Given the description of an element on the screen output the (x, y) to click on. 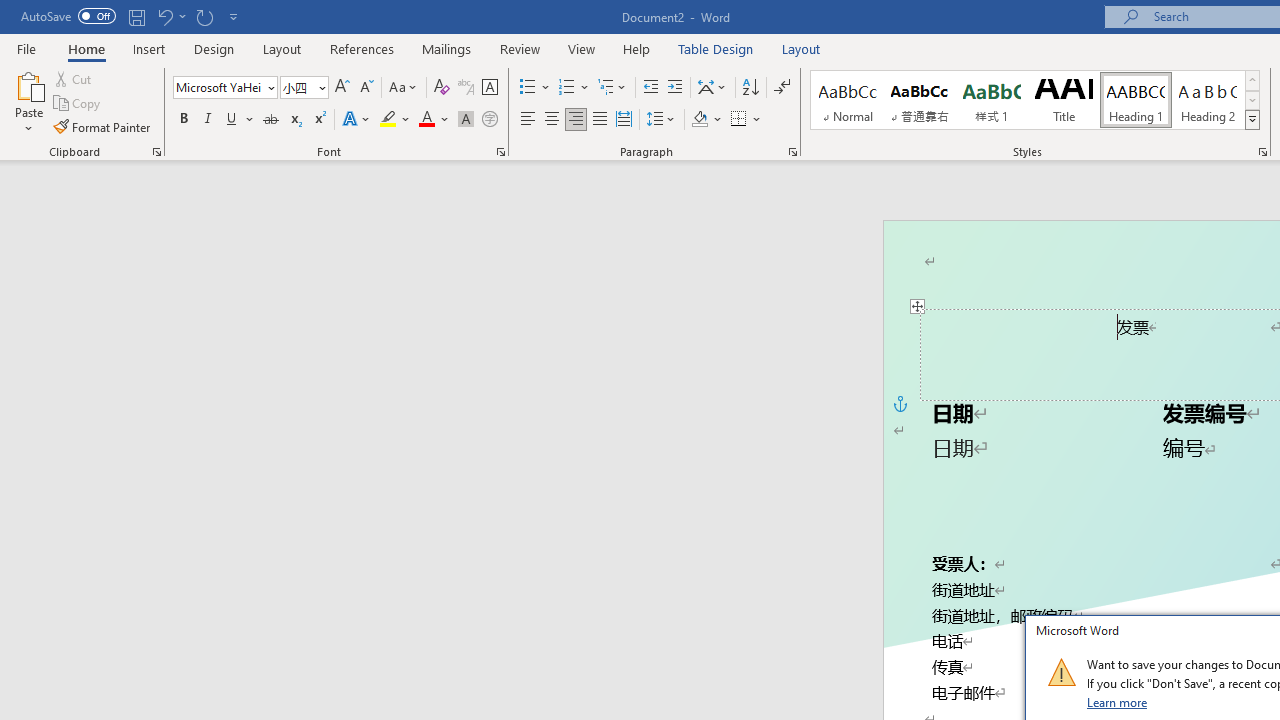
Repeat Style (204, 15)
